Given the description of an element on the screen output the (x, y) to click on. 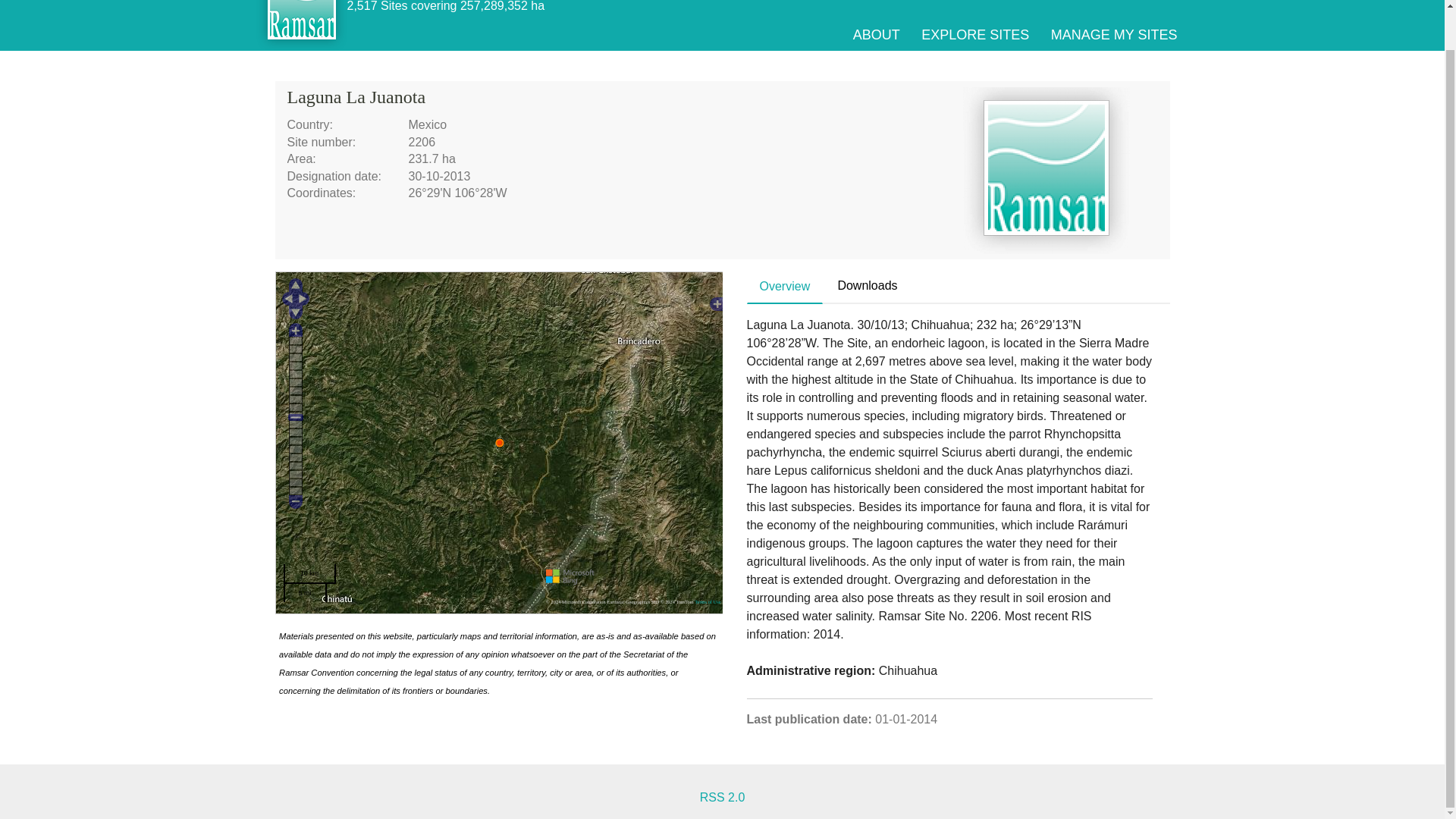
Downloads (866, 285)
Overview (785, 286)
Terms of Use (707, 601)
MANAGE MY SITES (1114, 34)
RSS 2.0 (722, 797)
Home (301, 25)
ABOUT (876, 34)
EXPLORE SITES (975, 34)
Ramsar logo (1045, 169)
